Given the description of an element on the screen output the (x, y) to click on. 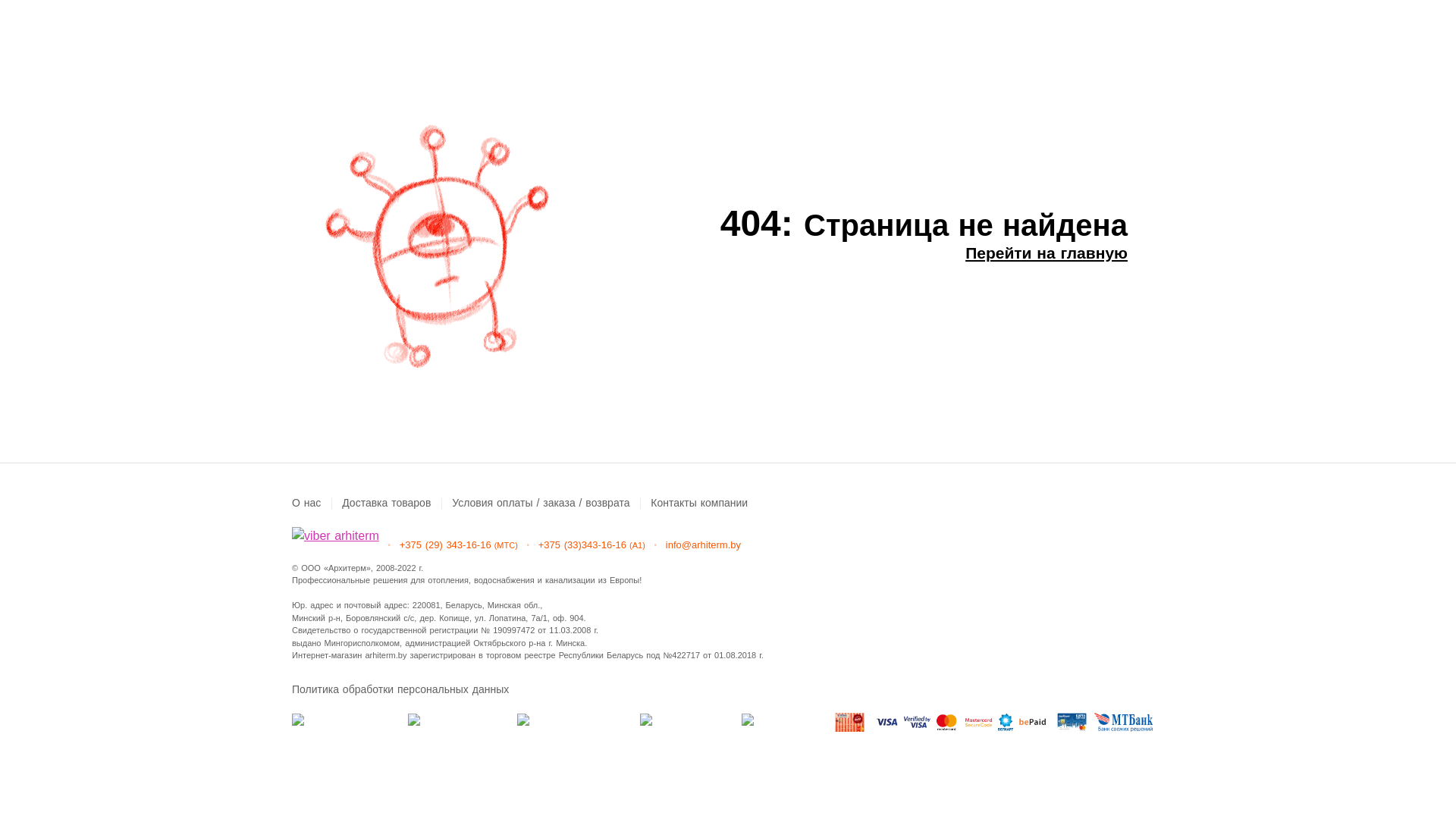
viber arhiterm Element type: hover (335, 535)
+375 (33)343-16-16(A1) Element type: text (591, 544)
